Given the description of an element on the screen output the (x, y) to click on. 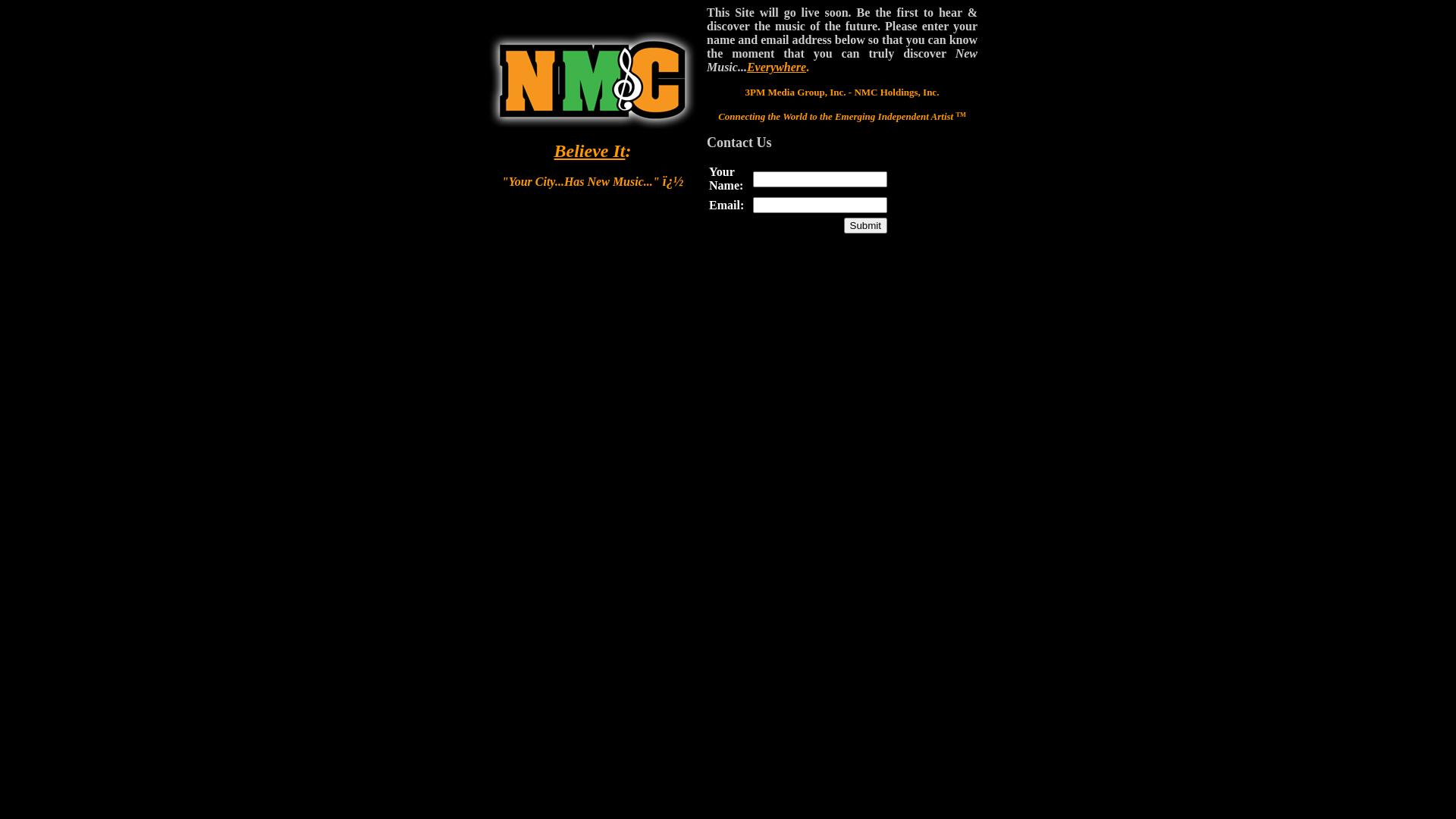
Submit Element type: text (865, 225)
